Given the description of an element on the screen output the (x, y) to click on. 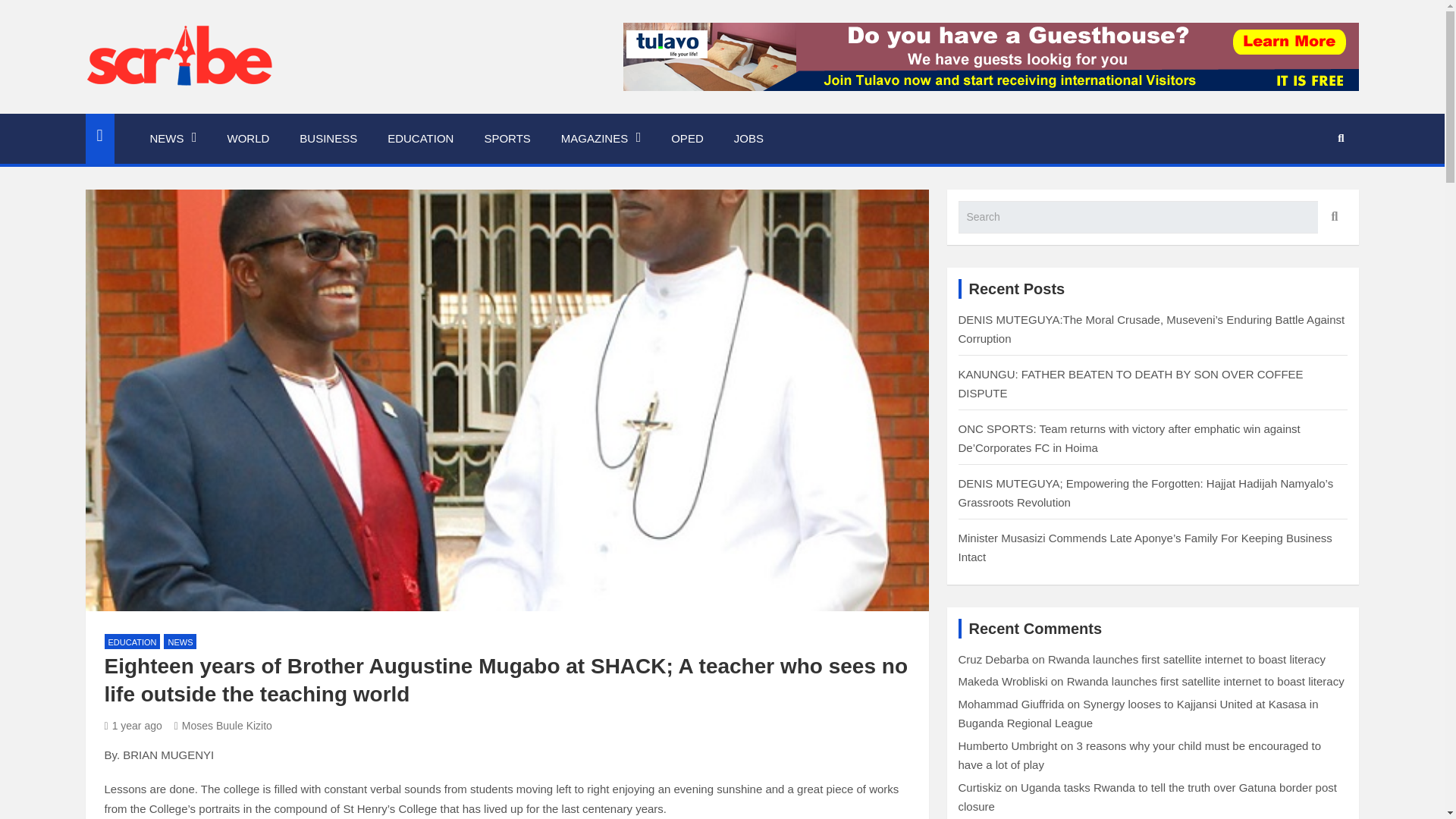
The Scribe Uganda (221, 110)
OPED (687, 138)
BUSINESS (327, 138)
WORLD (248, 138)
MAGAZINES (601, 138)
NEWS (173, 138)
EDUCATION (132, 641)
NEWS (179, 641)
1 year ago (132, 725)
SPORTS (506, 138)
Moses Buule Kizito (223, 725)
EDUCATION (420, 138)
JOBS (748, 138)
